Given the description of an element on the screen output the (x, y) to click on. 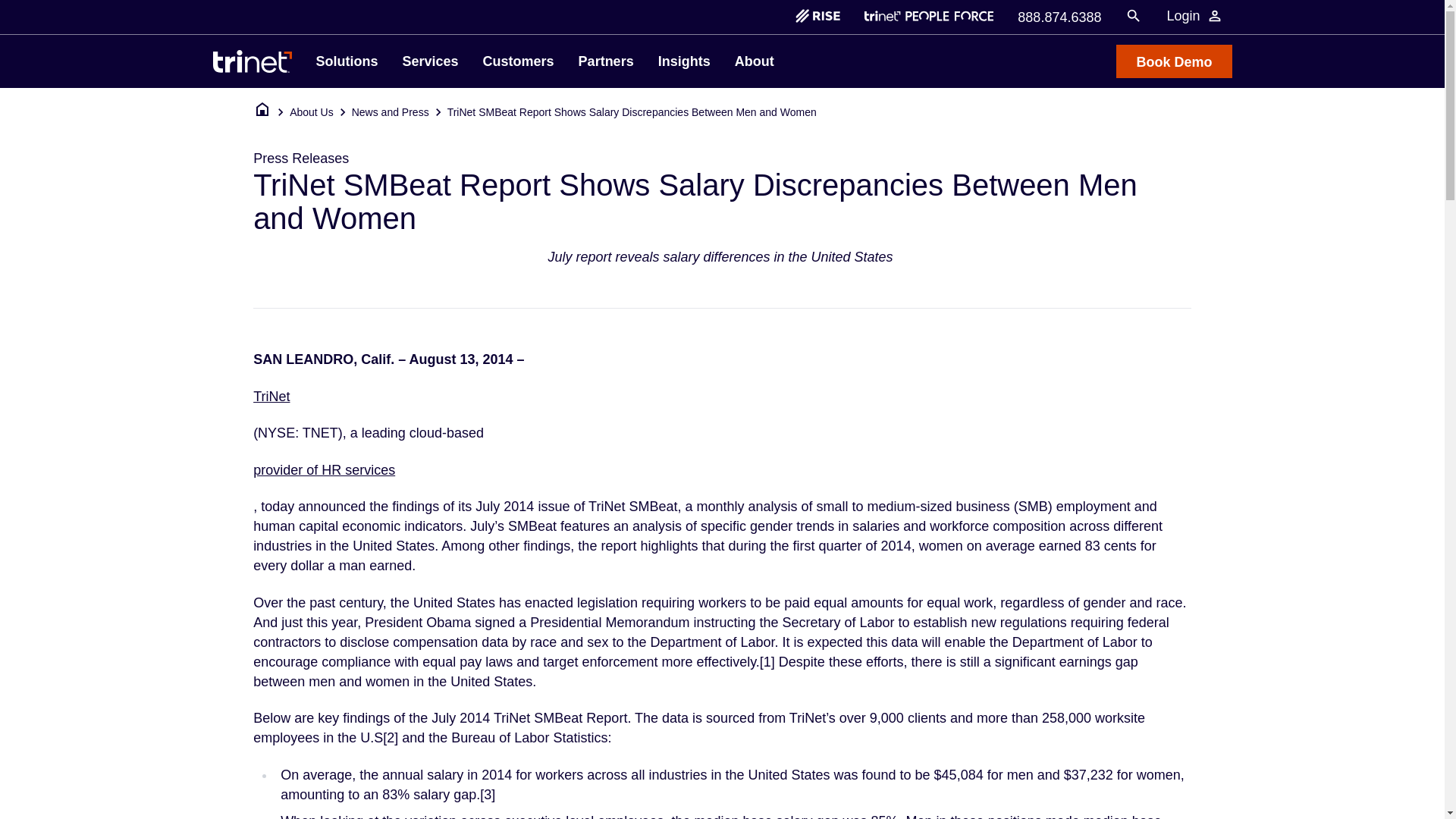
Insights (684, 61)
888.874.6388 (1059, 15)
Partners (606, 61)
About (754, 61)
Solutions (346, 61)
Book Demo (1173, 61)
Customers (518, 61)
Services (430, 61)
About Us (311, 111)
News and Press (390, 111)
